Given the description of an element on the screen output the (x, y) to click on. 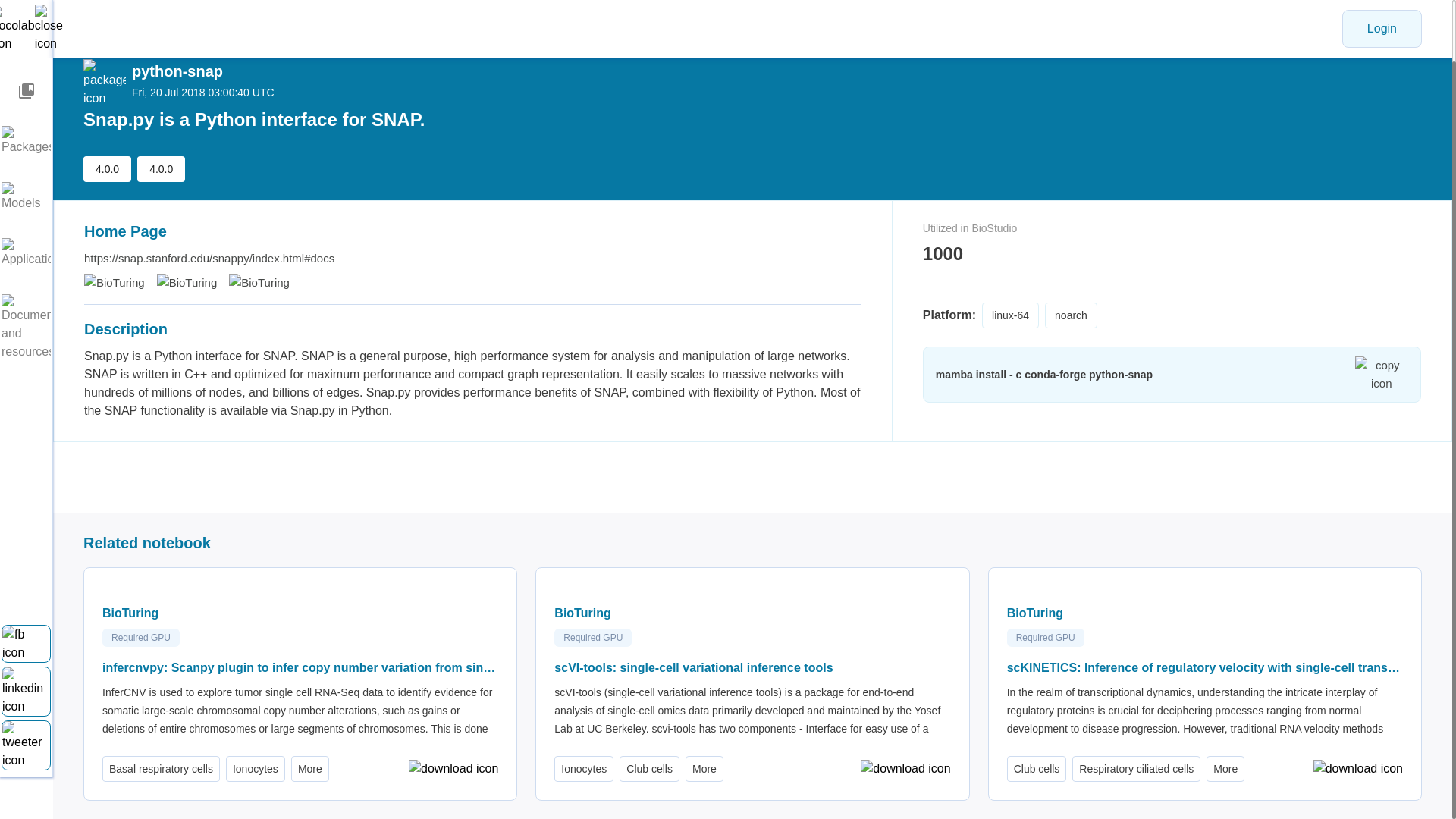
scVI-tools: single-cell variational inference tools (752, 668)
Packages (25, 124)
Applications (25, 236)
Models (25, 179)
Notebooks (25, 73)
scVI-tools: single-cell variational inference tools (752, 668)
4.0.0 (106, 168)
4.0.0 (160, 168)
More (1225, 768)
